Given the description of an element on the screen output the (x, y) to click on. 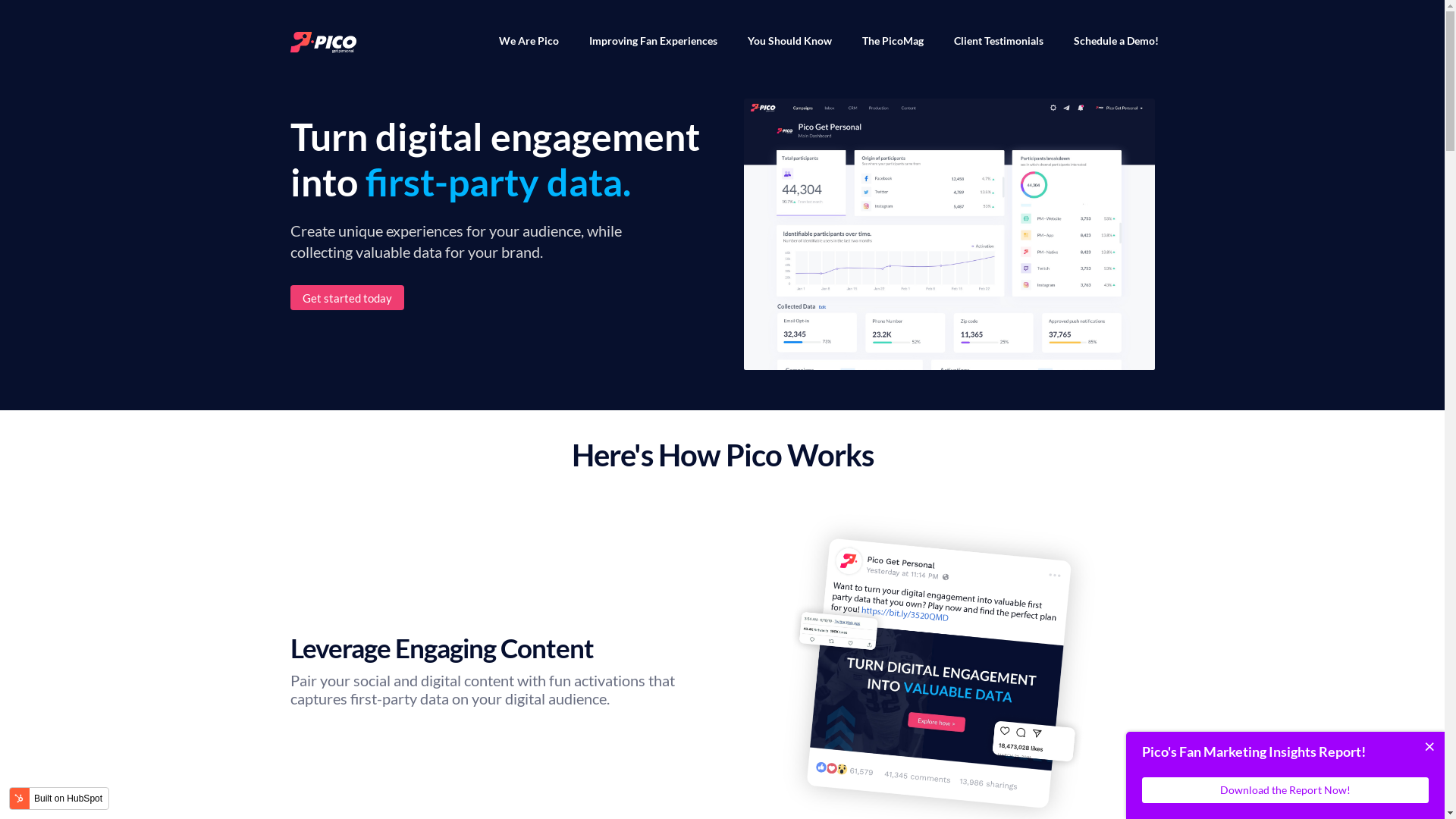
Download the Report Now! Element type: text (1285, 790)
Pico - Logo White HQ Element type: hover (322, 42)
You Should Know Element type: text (789, 41)
Improving Fan Experiences Element type: text (652, 41)
The PicoMag Element type: text (891, 41)
Schedule a Demo! Element type: text (1115, 41)
Client Testimonials Element type: text (998, 41)
Get started today Element type: text (346, 297)
We Are Pico Element type: text (528, 41)
